Given the description of an element on the screen output the (x, y) to click on. 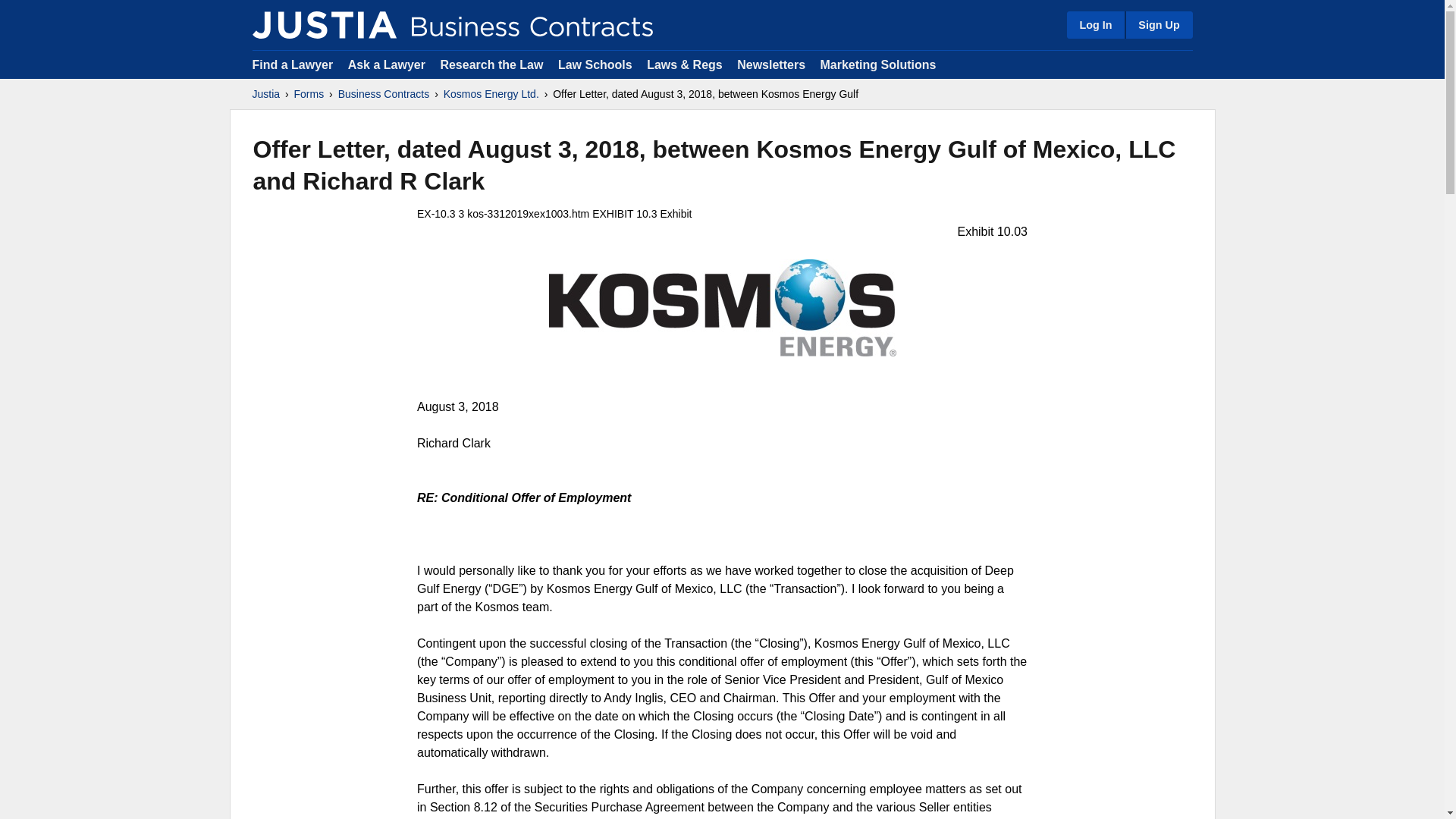
Ask a Lawyer (388, 64)
Marketing Solutions (877, 64)
Newsletters (770, 64)
Justia (265, 93)
Log In (1094, 24)
Forms (309, 93)
Justia (323, 24)
Research the Law (491, 64)
Sign Up (1158, 24)
Kosmos Energy Ltd. (491, 93)
Business Contracts (383, 93)
Find a Lawyer (292, 64)
Law Schools (594, 64)
